Given the description of an element on the screen output the (x, y) to click on. 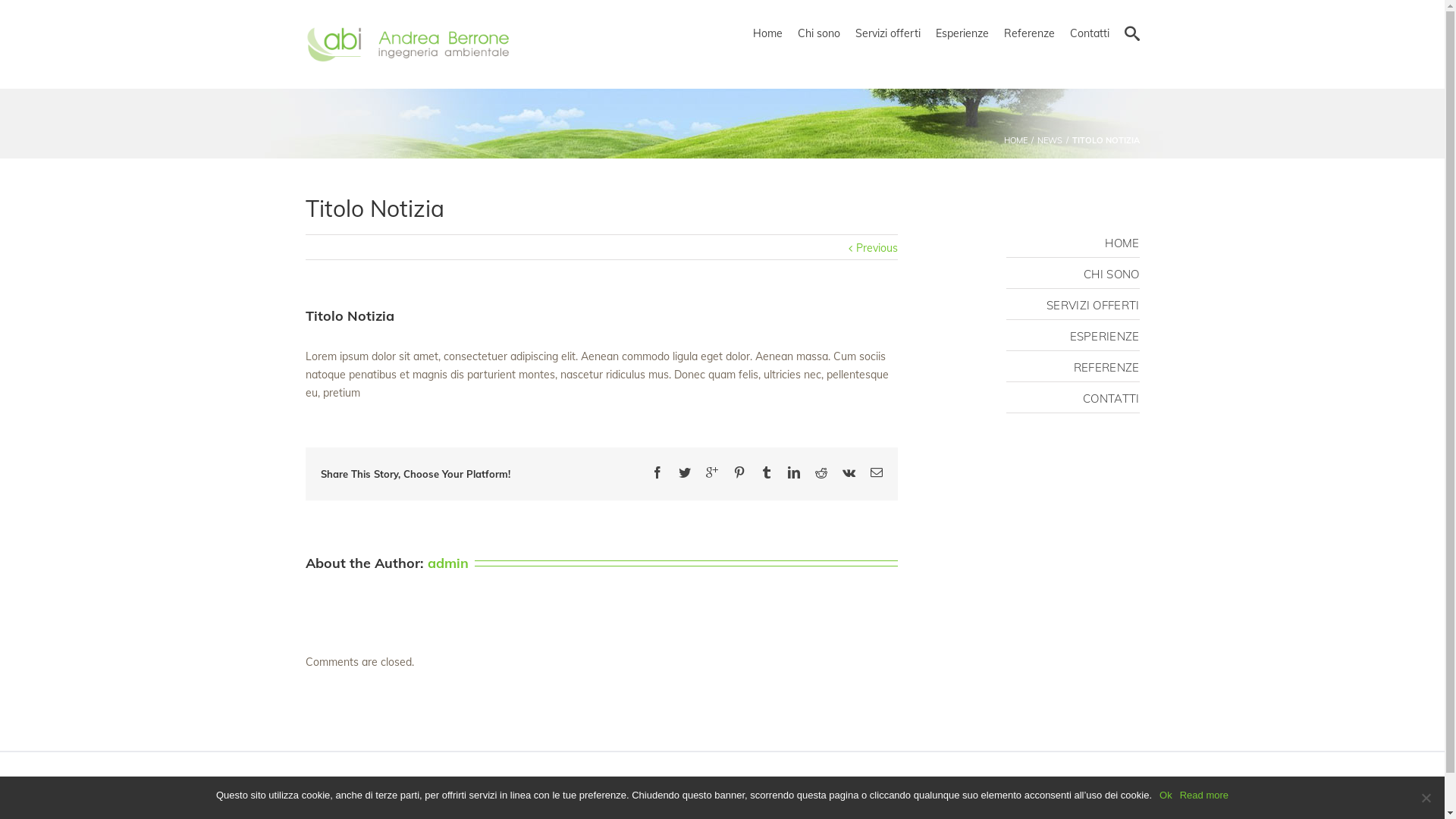
CONTATTI Element type: text (1110, 398)
Ok Element type: text (1165, 795)
NEWS Element type: text (1049, 139)
andrea@berrone.ch Element type: text (1025, 783)
REFERENZE Element type: text (1106, 367)
admin Element type: text (447, 562)
SERVIZI OFFERTI Element type: text (1092, 305)
HOME Element type: text (1121, 242)
No Element type: hover (1425, 797)
Referenze Element type: text (1029, 32)
CHI SONO Element type: text (1111, 273)
Esperienze Element type: text (961, 32)
Home Element type: text (766, 32)
Contatti Element type: text (1088, 32)
Previous Element type: text (876, 247)
Chi sono Element type: text (818, 32)
Read more Element type: text (1203, 795)
Servizi offerti Element type: text (887, 32)
HOME Element type: text (1015, 139)
ESPERIENZE Element type: text (1104, 336)
